Given the description of an element on the screen output the (x, y) to click on. 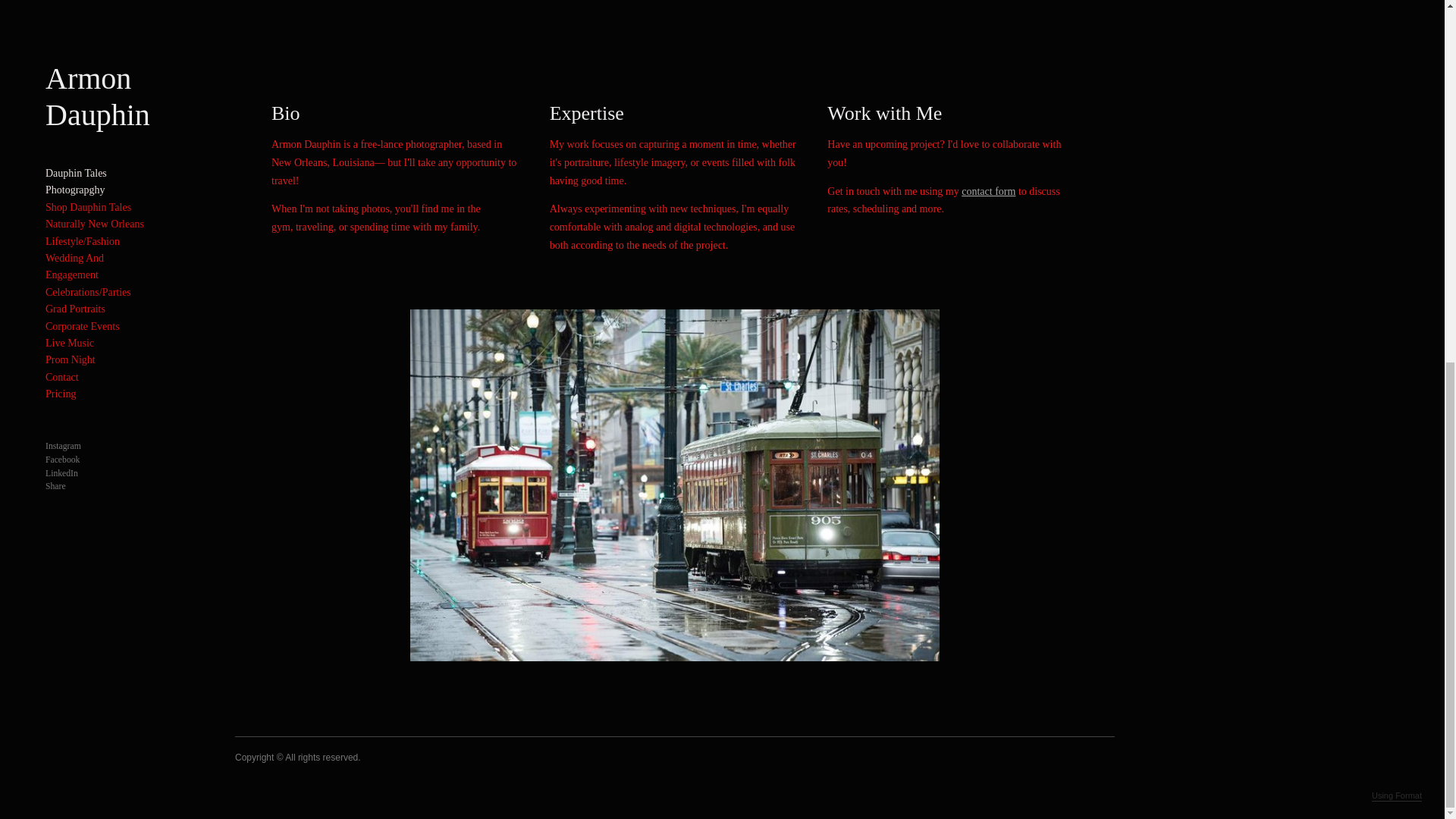
Using Format (1396, 149)
contact form (987, 191)
